Given the description of an element on the screen output the (x, y) to click on. 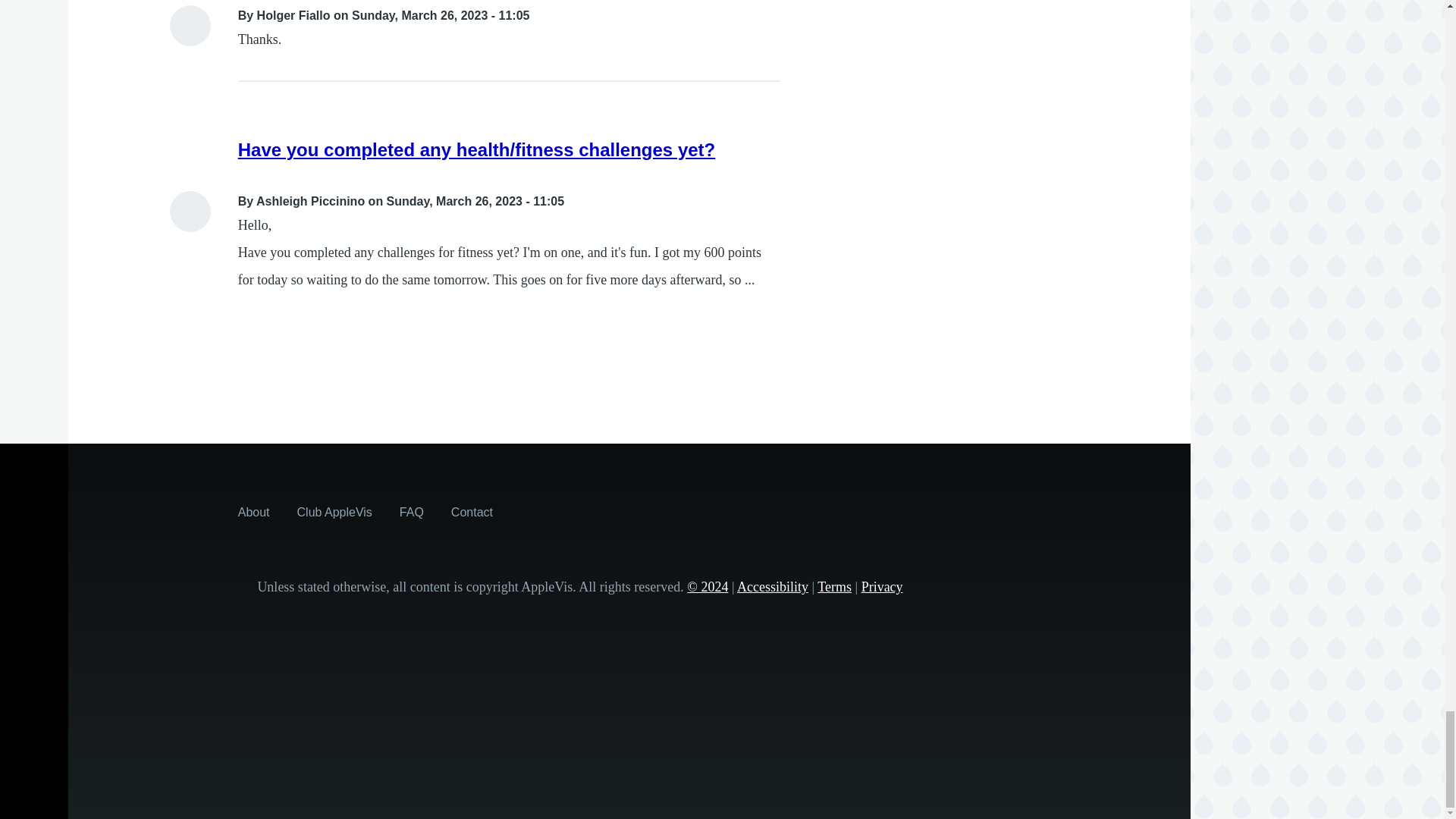
Answers to some frequently asked questions about AppleVis (410, 511)
About (253, 511)
